Given the description of an element on the screen output the (x, y) to click on. 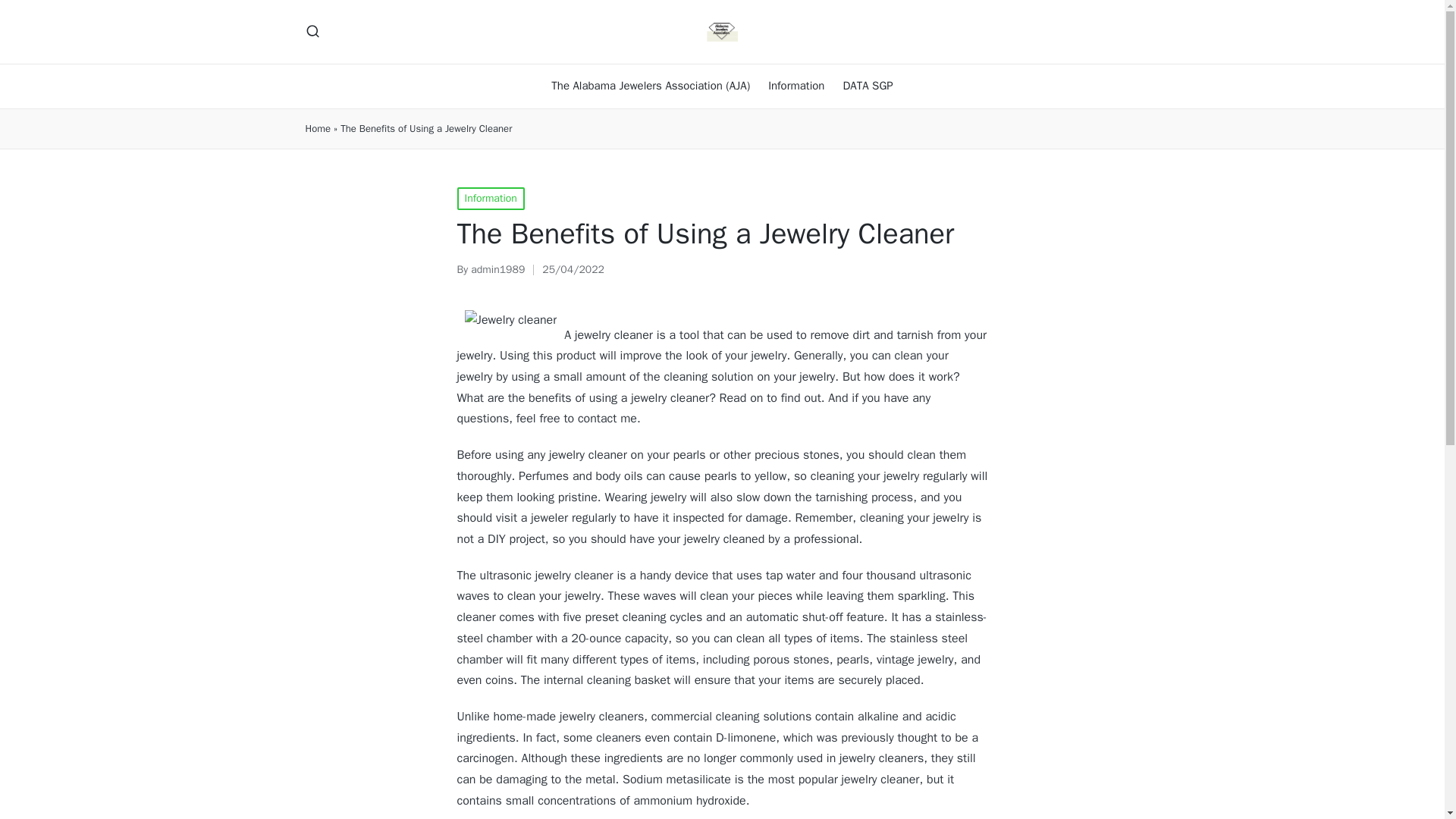
Home (317, 129)
View all posts by admin1989 (497, 269)
Information (490, 198)
admin1989 (497, 269)
DATA SGP (867, 86)
Information (796, 86)
